Given the description of an element on the screen output the (x, y) to click on. 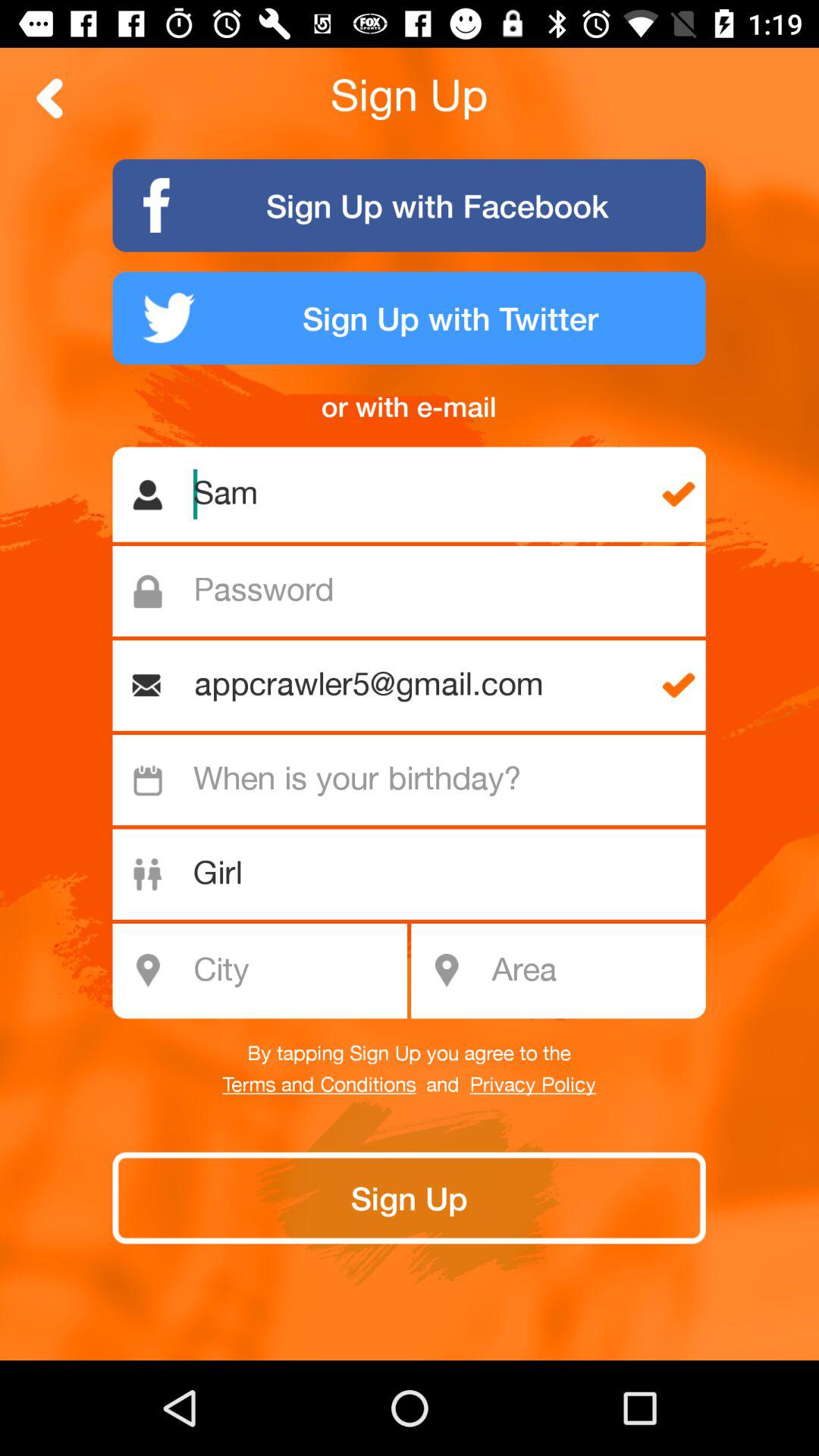
manual input zip code (593, 970)
